Given the description of an element on the screen output the (x, y) to click on. 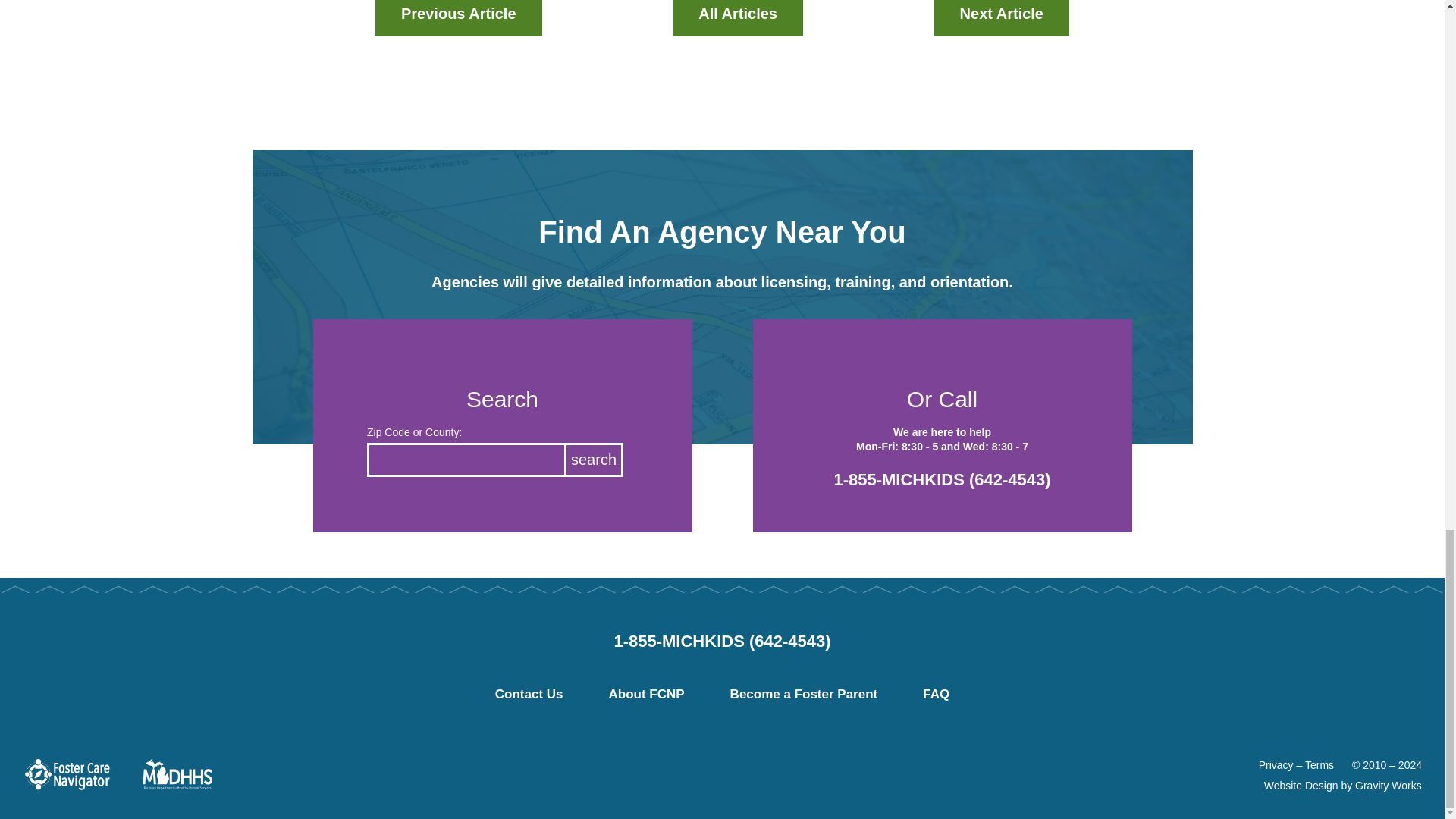
search (594, 459)
search (594, 459)
Previous Article (458, 18)
All Articles (737, 18)
Next Article (1001, 18)
